Given the description of an element on the screen output the (x, y) to click on. 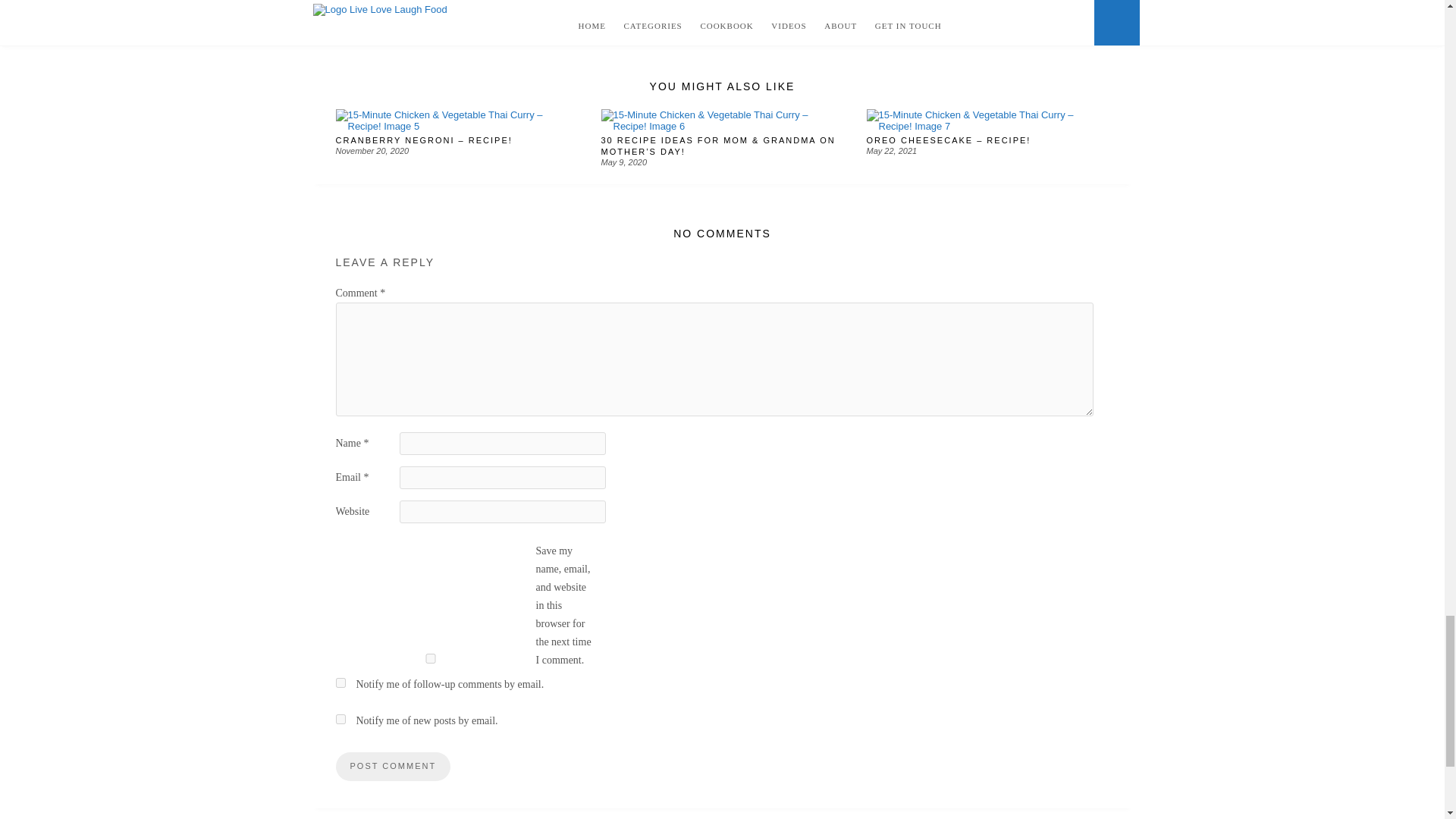
Post Comment (391, 766)
subscribe (339, 718)
subscribe (339, 682)
yes (429, 658)
